Given the description of an element on the screen output the (x, y) to click on. 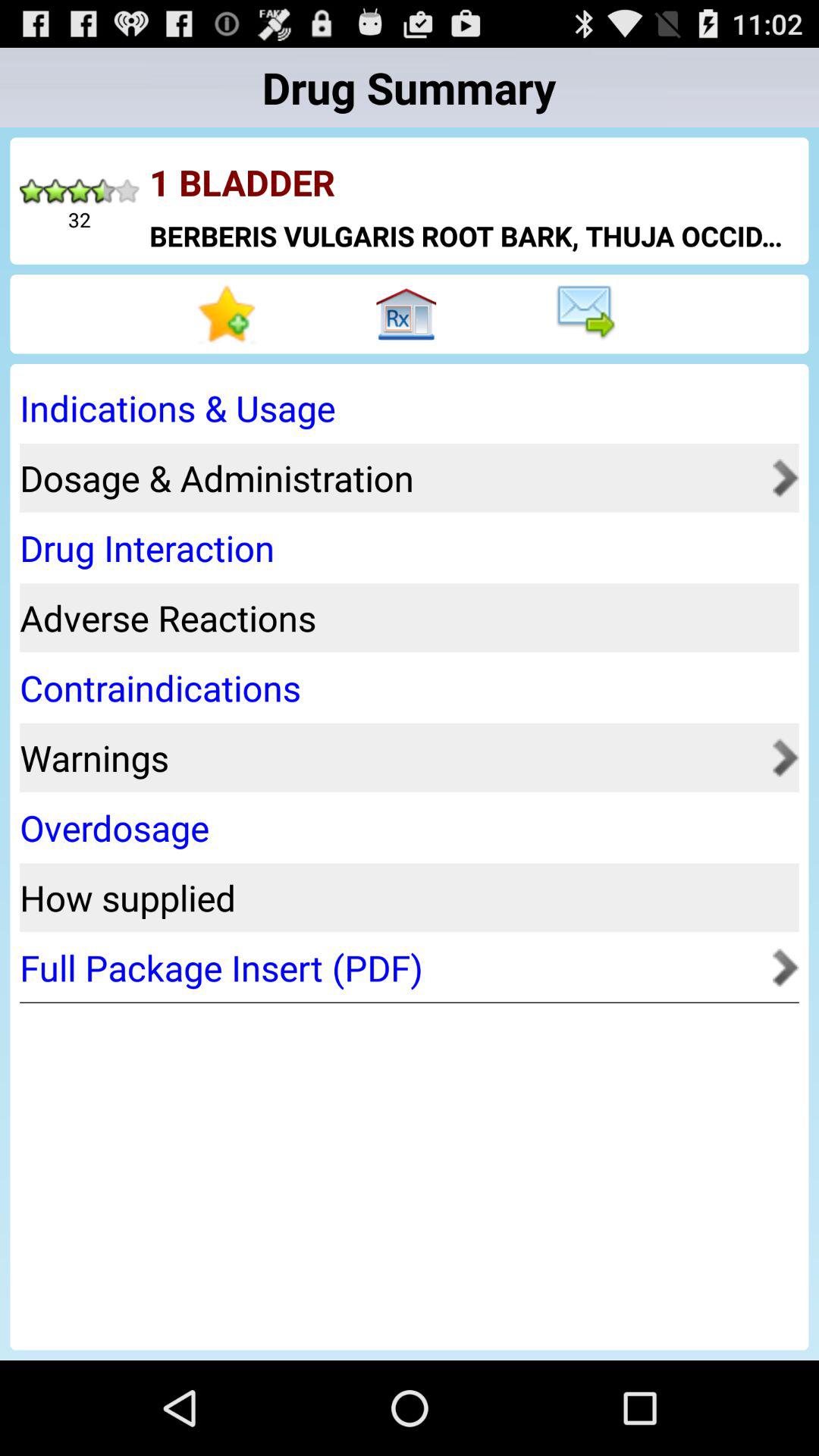
jump until dosage & administration item (390, 477)
